Given the description of an element on the screen output the (x, y) to click on. 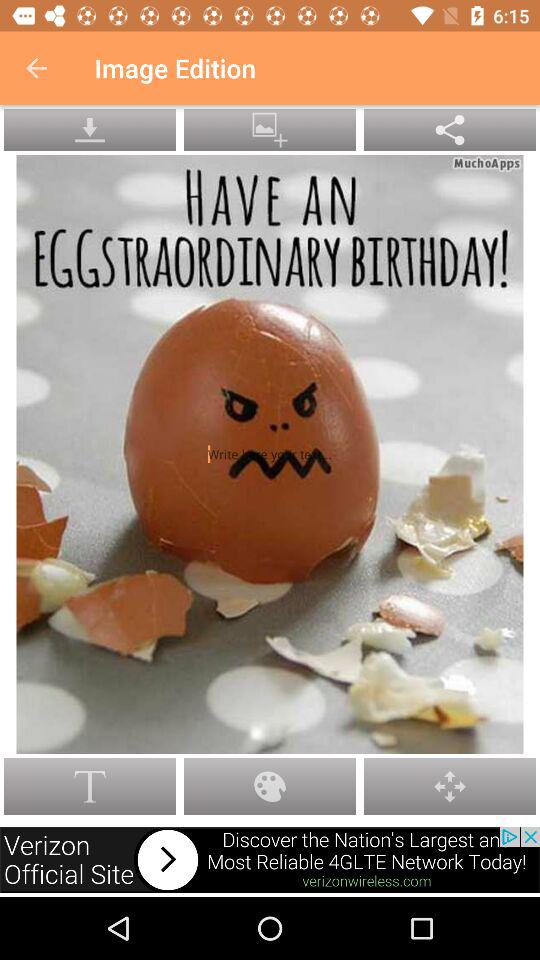
link to advertisement (270, 859)
